Given the description of an element on the screen output the (x, y) to click on. 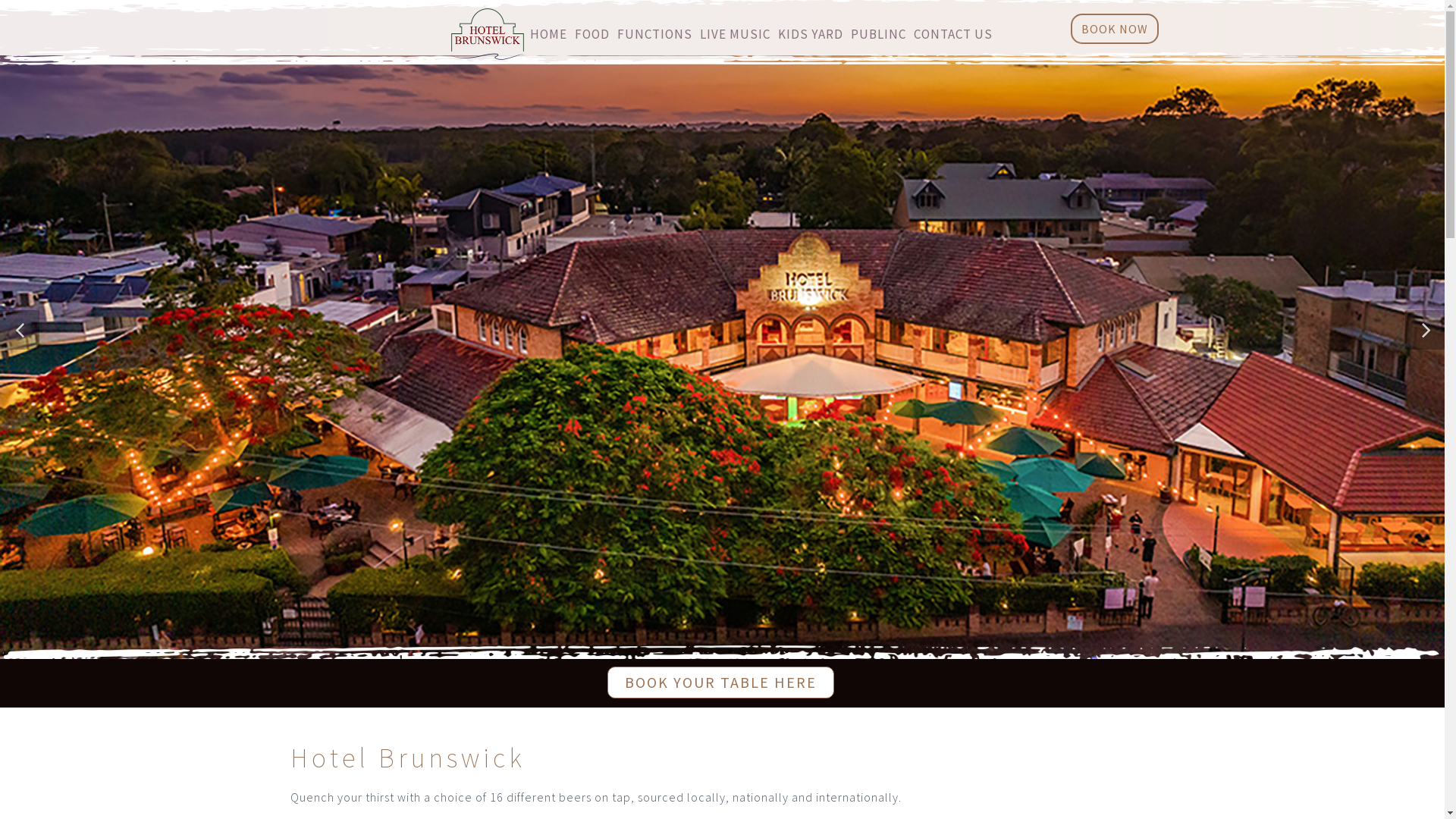
CONTACT US Element type: text (952, 33)
LIVE MUSIC Element type: text (734, 33)
KIDS YARD Element type: text (810, 33)
HOME Element type: text (547, 33)
FOOD Element type: text (591, 33)
PUBLINC Element type: text (878, 33)
FUNCTIONS Element type: text (654, 33)
BOOK YOUR TABLE HERE Element type: text (719, 682)
BOOK NOW Element type: text (1114, 28)
